Given the description of an element on the screen output the (x, y) to click on. 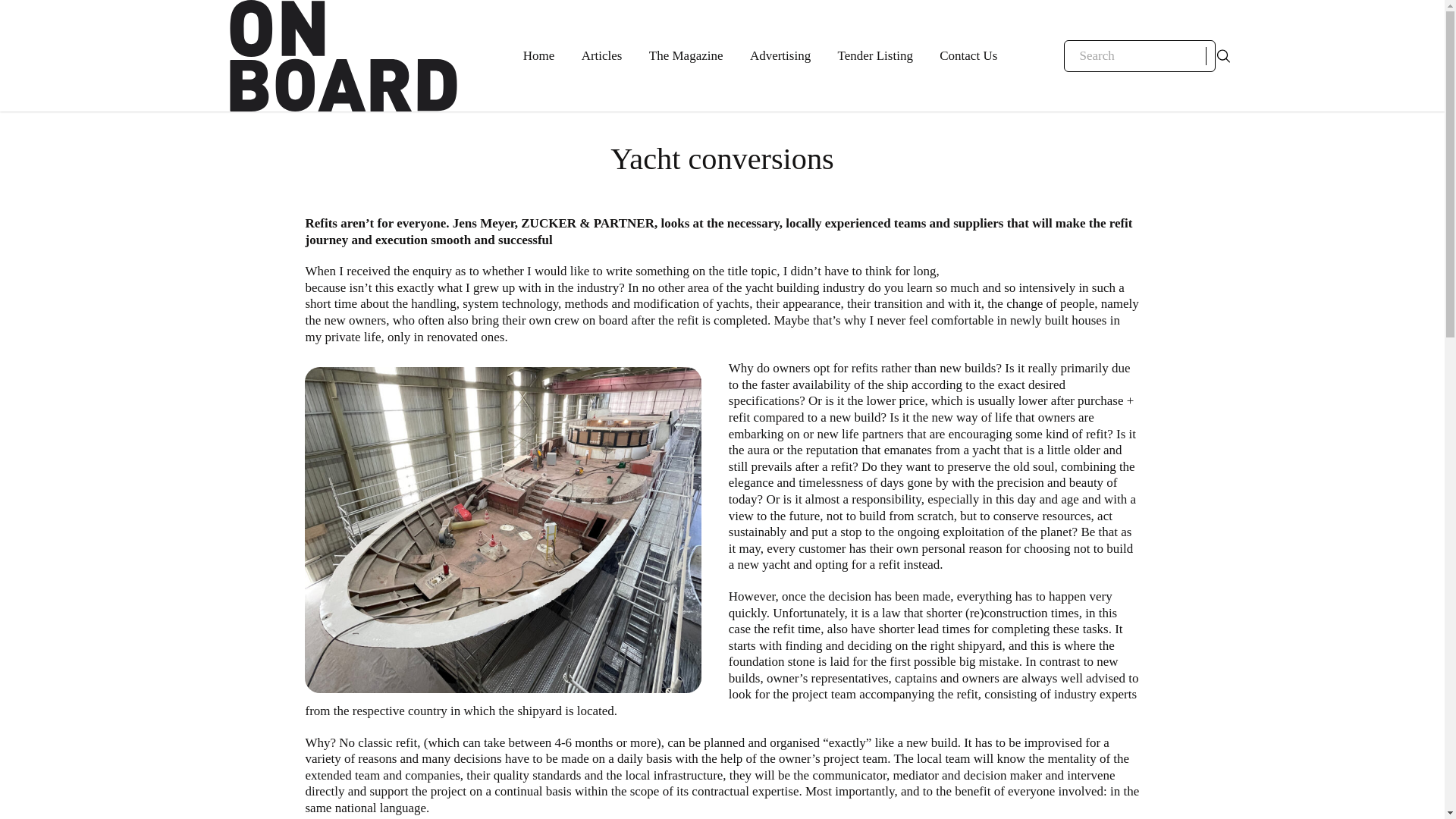
Tender Listing (875, 55)
Home (538, 55)
Advertising (779, 55)
The Magazine (686, 55)
Articles (601, 55)
Contact Us (968, 55)
